Given the description of an element on the screen output the (x, y) to click on. 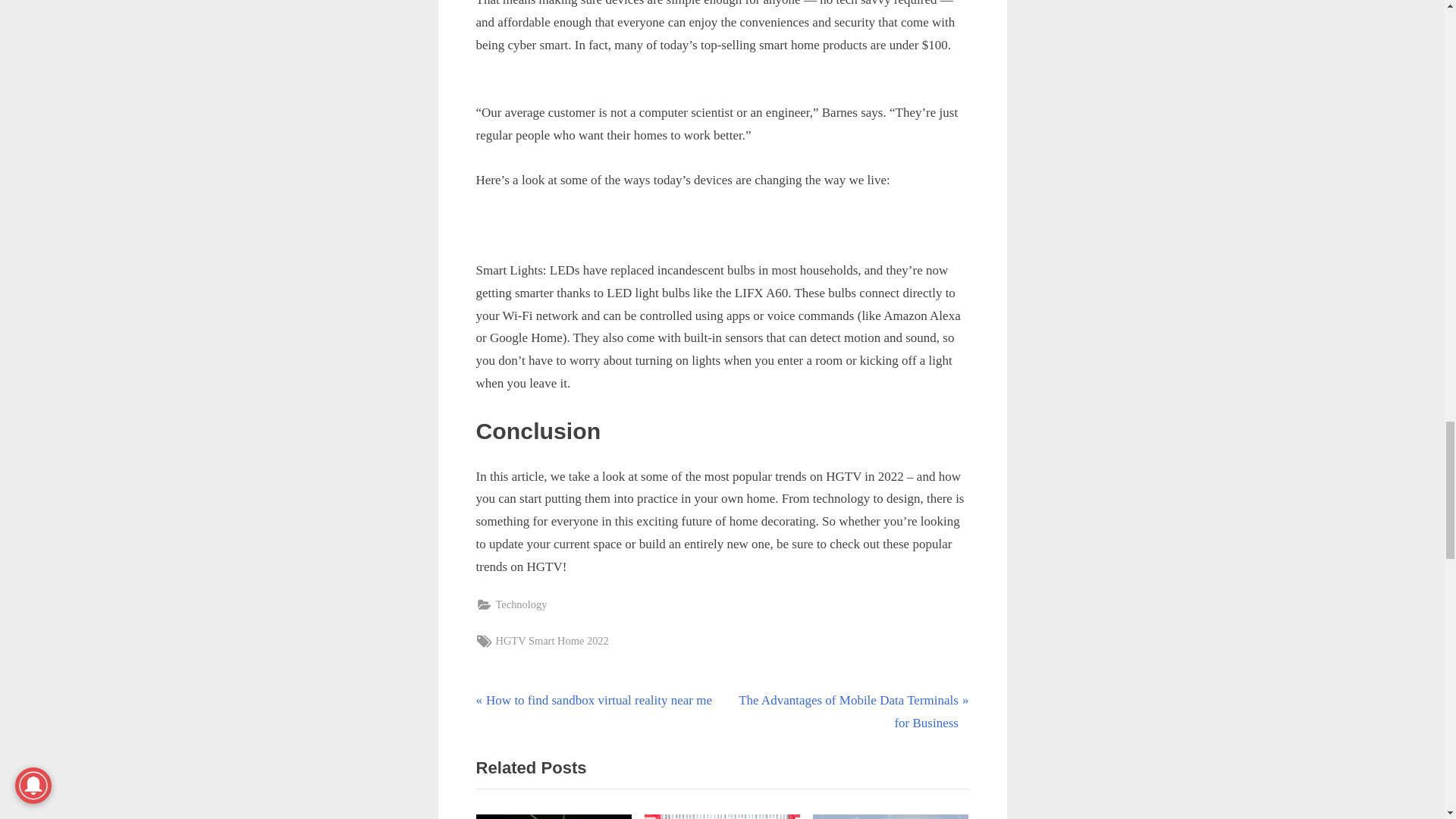
HGTV Smart Home 2022 (552, 640)
Technology (593, 700)
Troubleshooting Stoneblock 3 Chicken Catcher Not Working (521, 604)
